Given the description of an element on the screen output the (x, y) to click on. 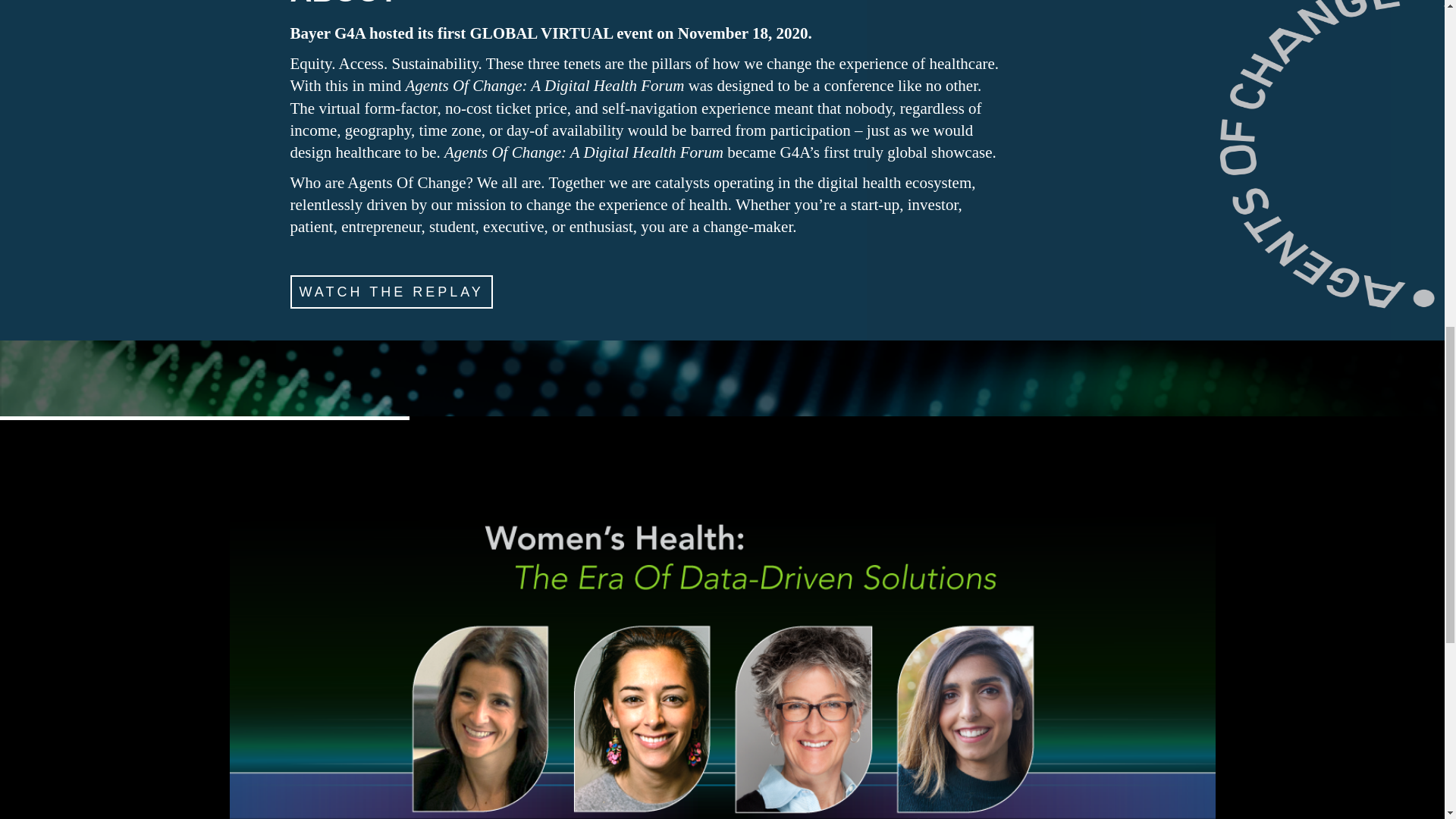
WATCH THE REPLAY (390, 285)
